Given the description of an element on the screen output the (x, y) to click on. 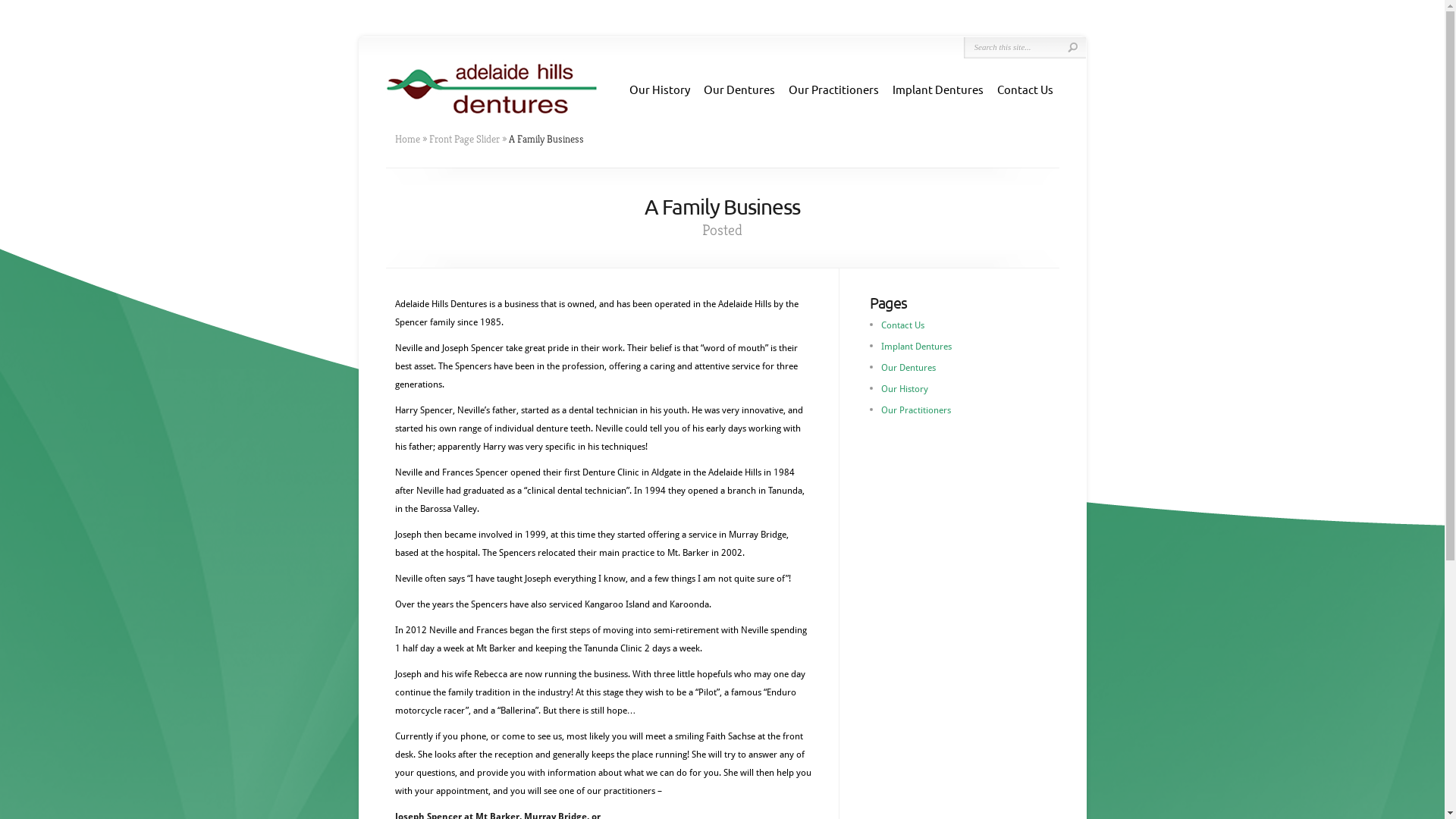
Contact Us Element type: text (1024, 89)
Our History Element type: text (904, 388)
Implant Dentures Element type: text (936, 89)
Our History Element type: text (659, 89)
Our Dentures Element type: text (739, 89)
Our Dentures Element type: text (908, 367)
Home Element type: text (406, 138)
Our Practitioners Element type: text (833, 89)
Our Practitioners Element type: text (915, 409)
Front Page Slider Element type: text (464, 138)
Contact Us Element type: text (902, 325)
Implant Dentures Element type: text (916, 346)
